Given the description of an element on the screen output the (x, y) to click on. 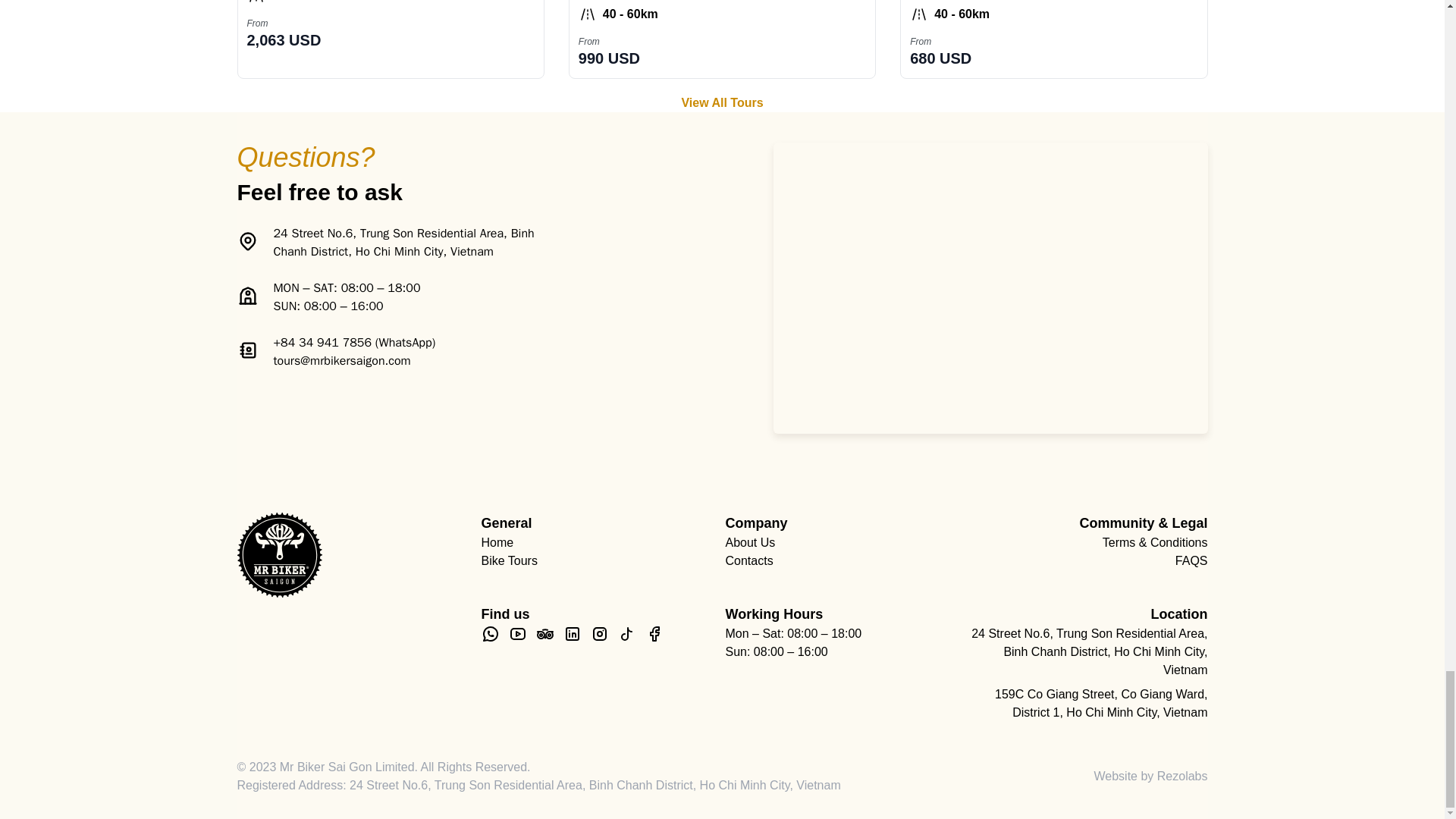
Home (599, 542)
About Us (843, 542)
This is svgThis is svgThis is svg (516, 633)
This is svgThis is svgThis is svg (489, 633)
This is svg (278, 554)
This is svgThis is svgThis is svg (489, 633)
This is svg (278, 554)
Bike Tours (599, 561)
This is svgThis is svgThis is svgThis is svgThis is svg (246, 295)
Mrbiker Saigon - Google Map Locacation (990, 288)
View All Tours (721, 103)
